Given the description of an element on the screen output the (x, y) to click on. 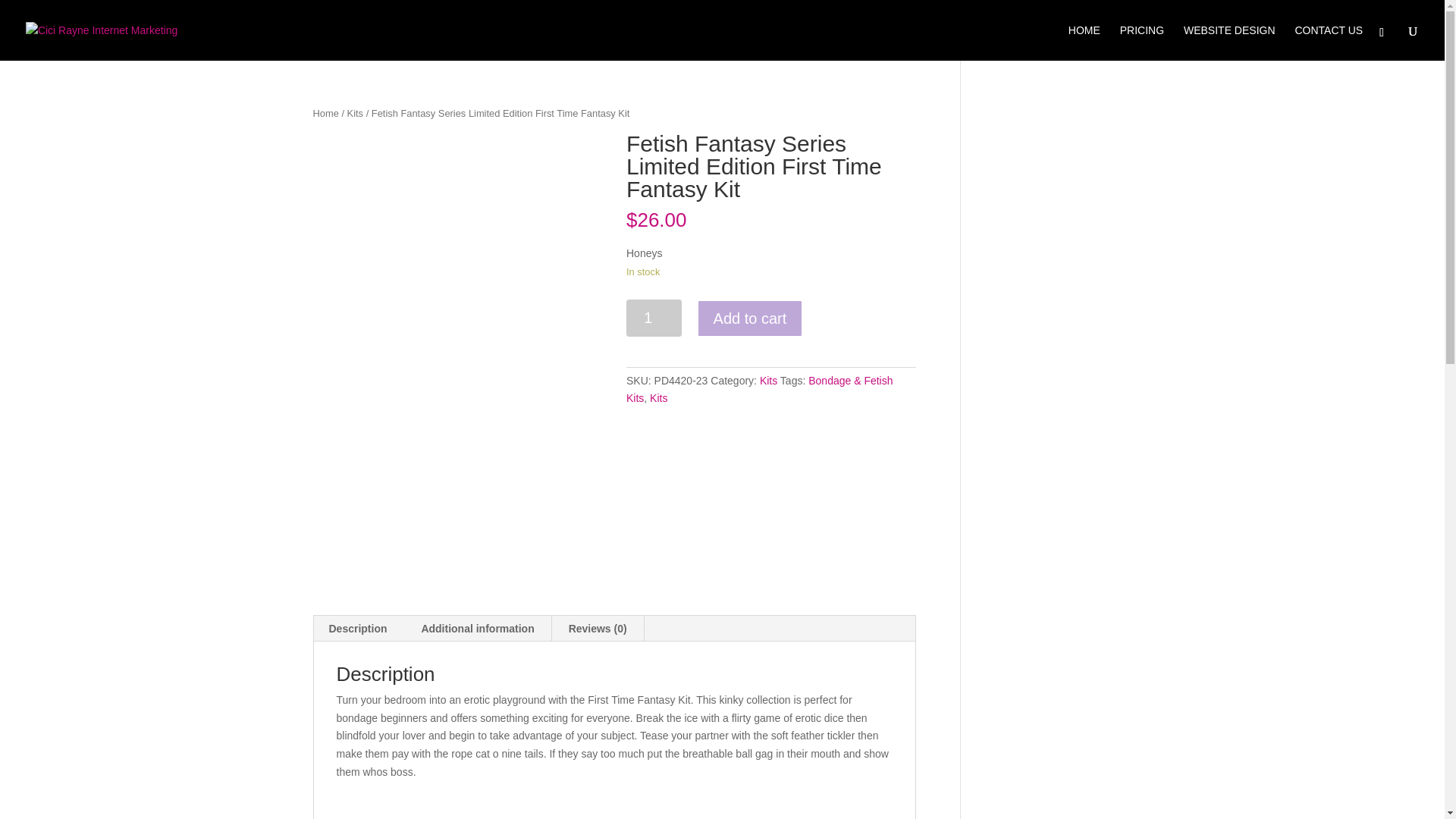
Description (358, 628)
1 (653, 317)
Add to cart (750, 318)
WEBSITE DESIGN (1229, 42)
Additional information (477, 628)
HOME (1084, 42)
Home (325, 112)
PRICING (1141, 42)
Kits (657, 398)
Kits (768, 380)
